Given the description of an element on the screen output the (x, y) to click on. 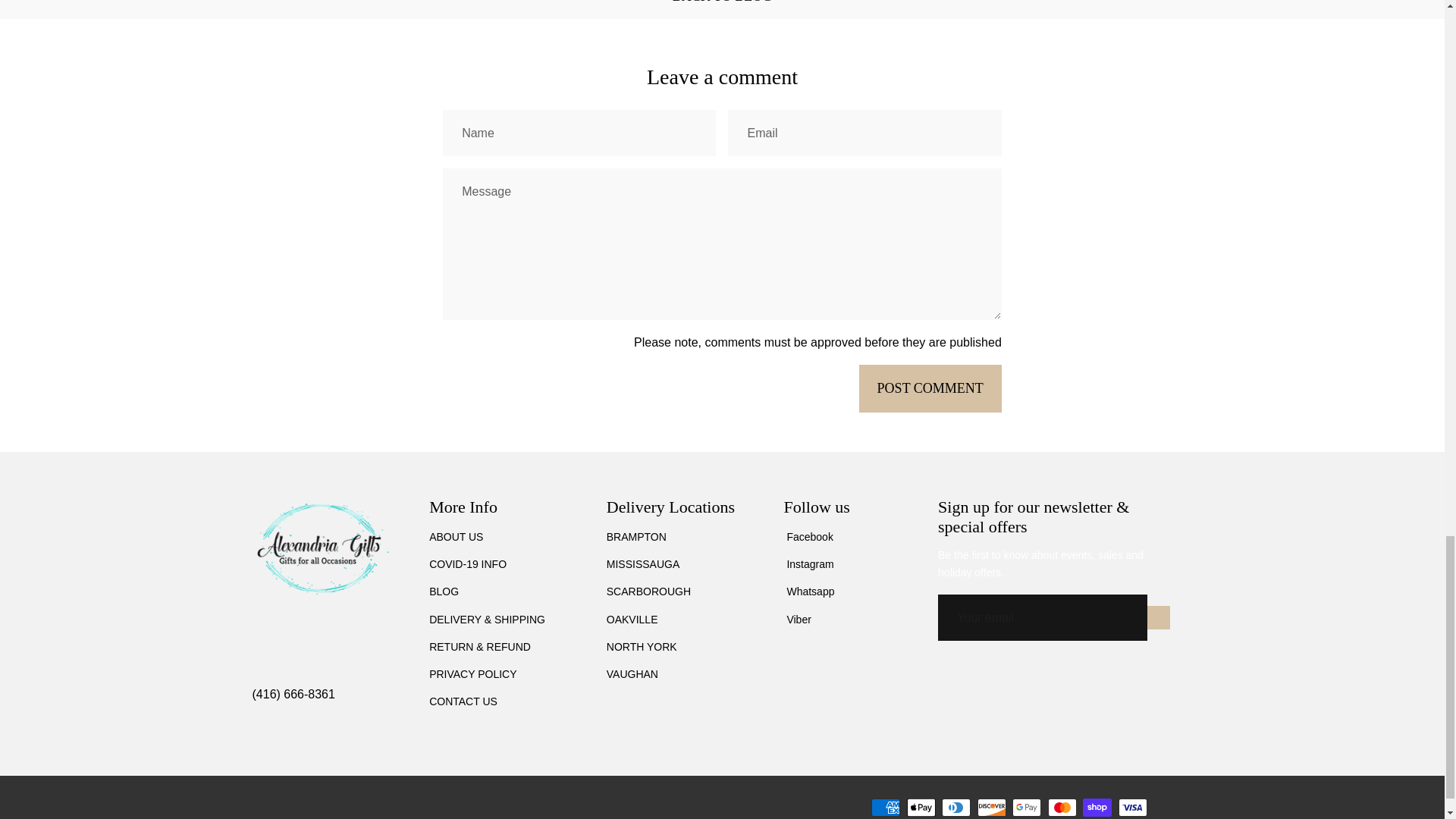
Alexandria Gifts on Whatsapp (808, 591)
Mastercard (1062, 807)
Shop Pay (1097, 807)
American Express (884, 807)
Alexandria Gifts on Facebook (807, 537)
Alexandria Gifts on Viber (796, 619)
Diners Club (956, 807)
Visa (1132, 807)
Apple Pay (921, 807)
Discover (991, 807)
